Given the description of an element on the screen output the (x, y) to click on. 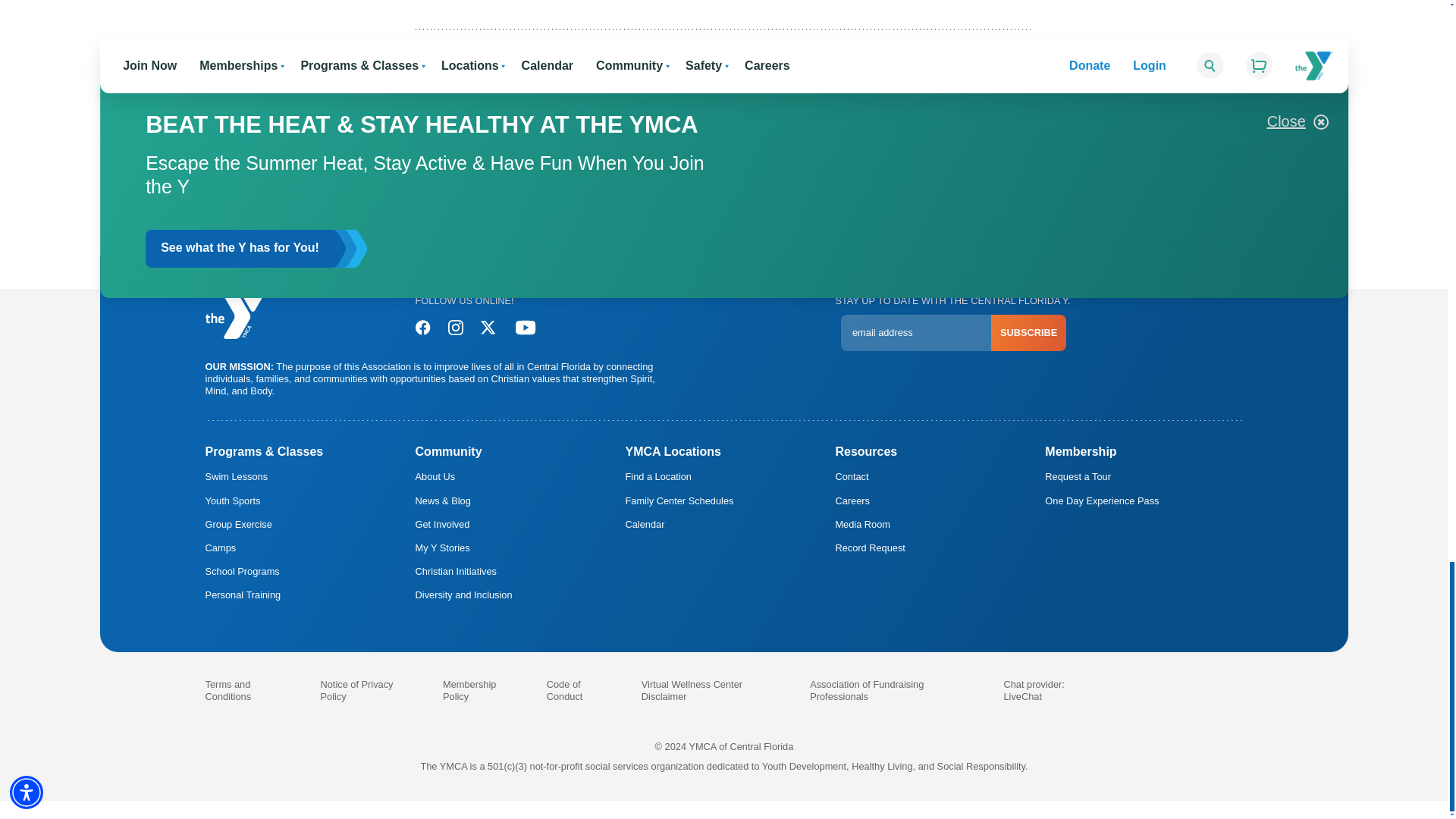
Home (236, 315)
